Given the description of an element on the screen output the (x, y) to click on. 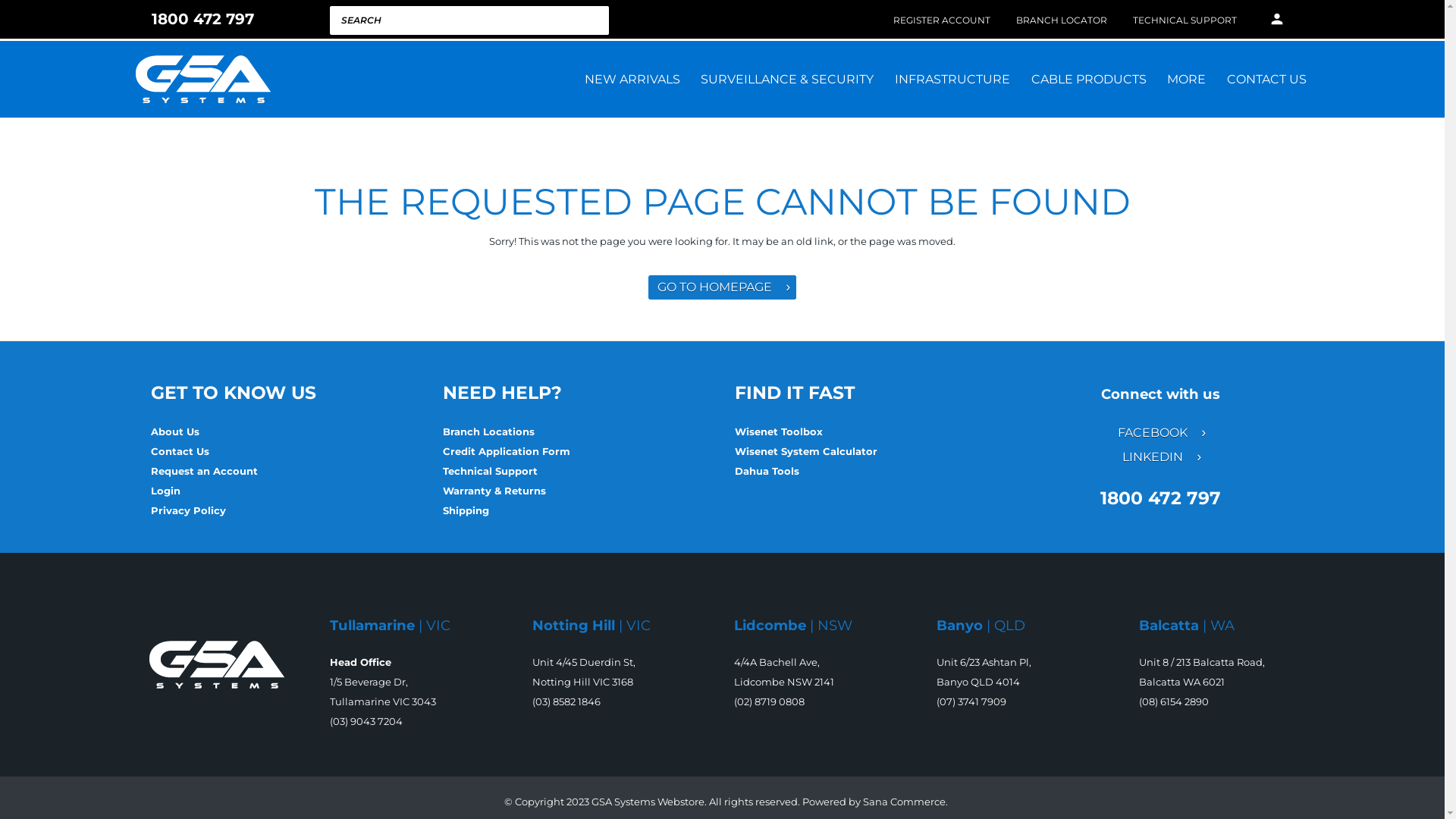
Credit Application Form  Element type: text (507, 451)
SURVEILLANCE & SECURITY Element type: text (787, 78)
About Us  Element type: text (175, 431)
CABLE PRODUCTS Element type: text (1088, 78)
GO TO HOMEPAGE Element type: text (722, 287)
Contact Us  Element type: text (180, 451)
Branch Locations  Element type: text (489, 431)
LINKEDIN Element type: text (1160, 457)
BRANCH LOCATOR Element type: text (1061, 19)
Dahua Tools Element type: text (766, 470)
  Element type: text (181, 490)
Privacy Policy  Element type: text (189, 510)
Shipping  Element type: text (467, 510)
Homepage Element type: text (216, 664)
NEW ARRIVALS Element type: text (632, 78)
Login Element type: text (164, 490)
CONTACT US Element type: text (1266, 78)
Request an Account Element type: text (203, 470)
REGISTER ACCOUNT Element type: text (941, 19)
Search Element type: text (568, 20)
Technical Support  Element type: text (491, 470)
FACEBOOK Element type: text (1160, 432)
Homepage Element type: text (202, 78)
Wisenet Toolbox  Element type: text (779, 431)
INFRASTRUCTURE Element type: text (952, 78)
MORE Element type: text (1186, 78)
Wisenet System Calculator  Element type: text (806, 451)
TECHNICAL SUPPORT Element type: text (1185, 19)
Warranty & Returns Element type: text (494, 490)
1800 472 797 Element type: text (196, 18)
